Given the description of an element on the screen output the (x, y) to click on. 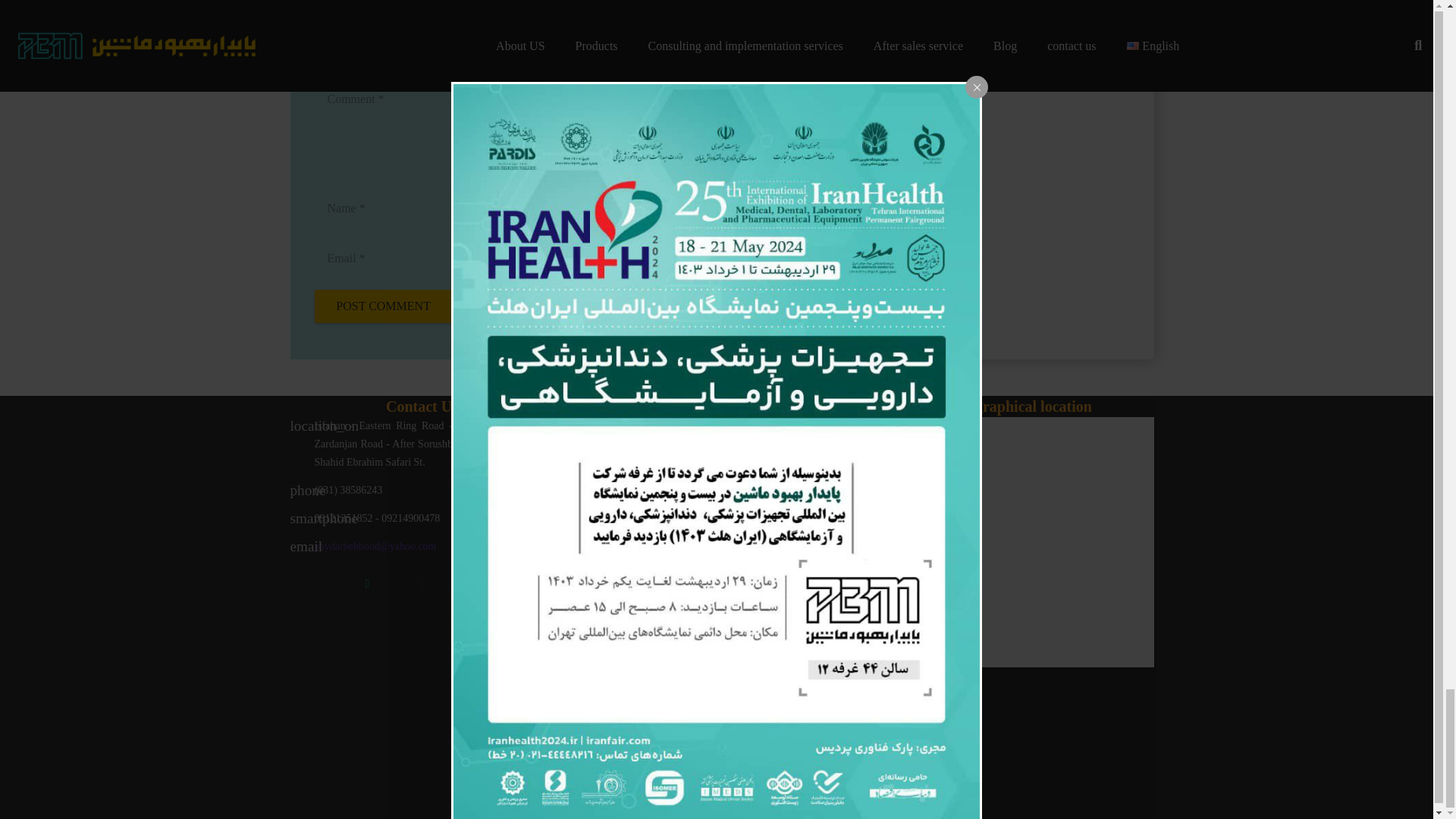
WhatsApp (366, 583)
Telegram (476, 583)
Instagram (421, 583)
